Given the description of an element on the screen output the (x, y) to click on. 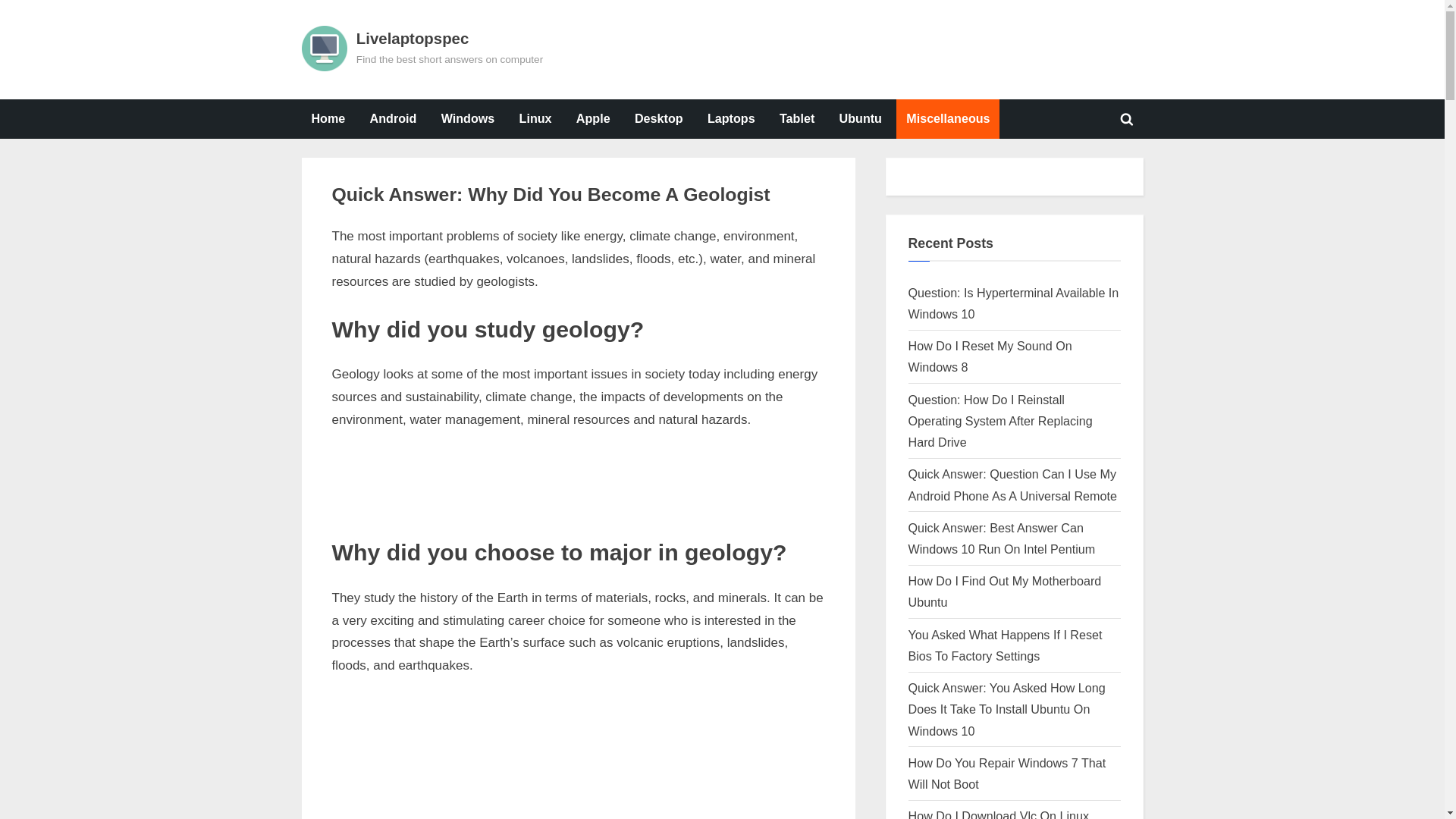
Windows (467, 118)
Android (392, 118)
Linux (364, 226)
Ubuntu (535, 118)
Home (860, 118)
Tablet (328, 118)
